Given the description of an element on the screen output the (x, y) to click on. 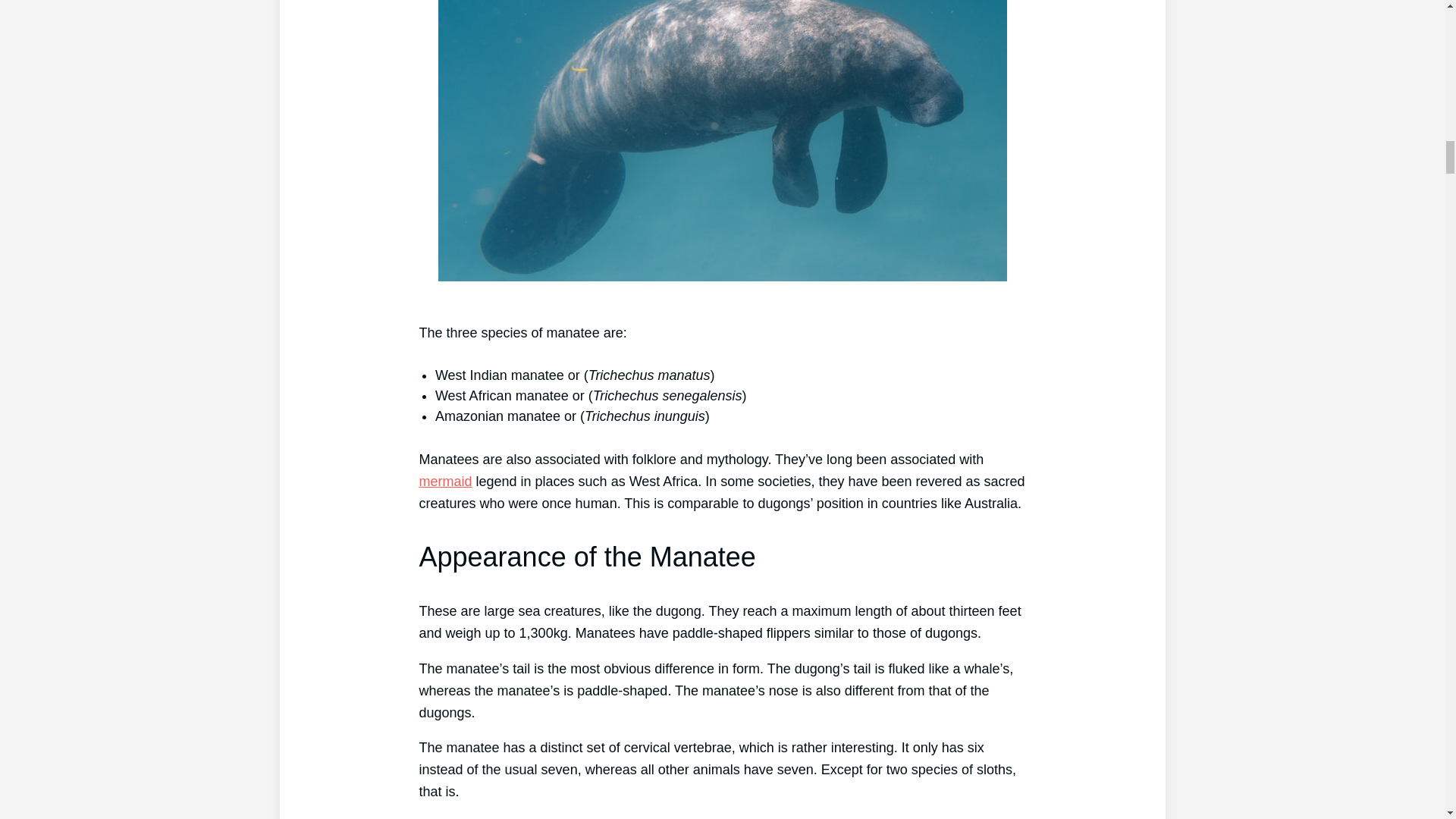
mermaid (445, 481)
